Given the description of an element on the screen output the (x, y) to click on. 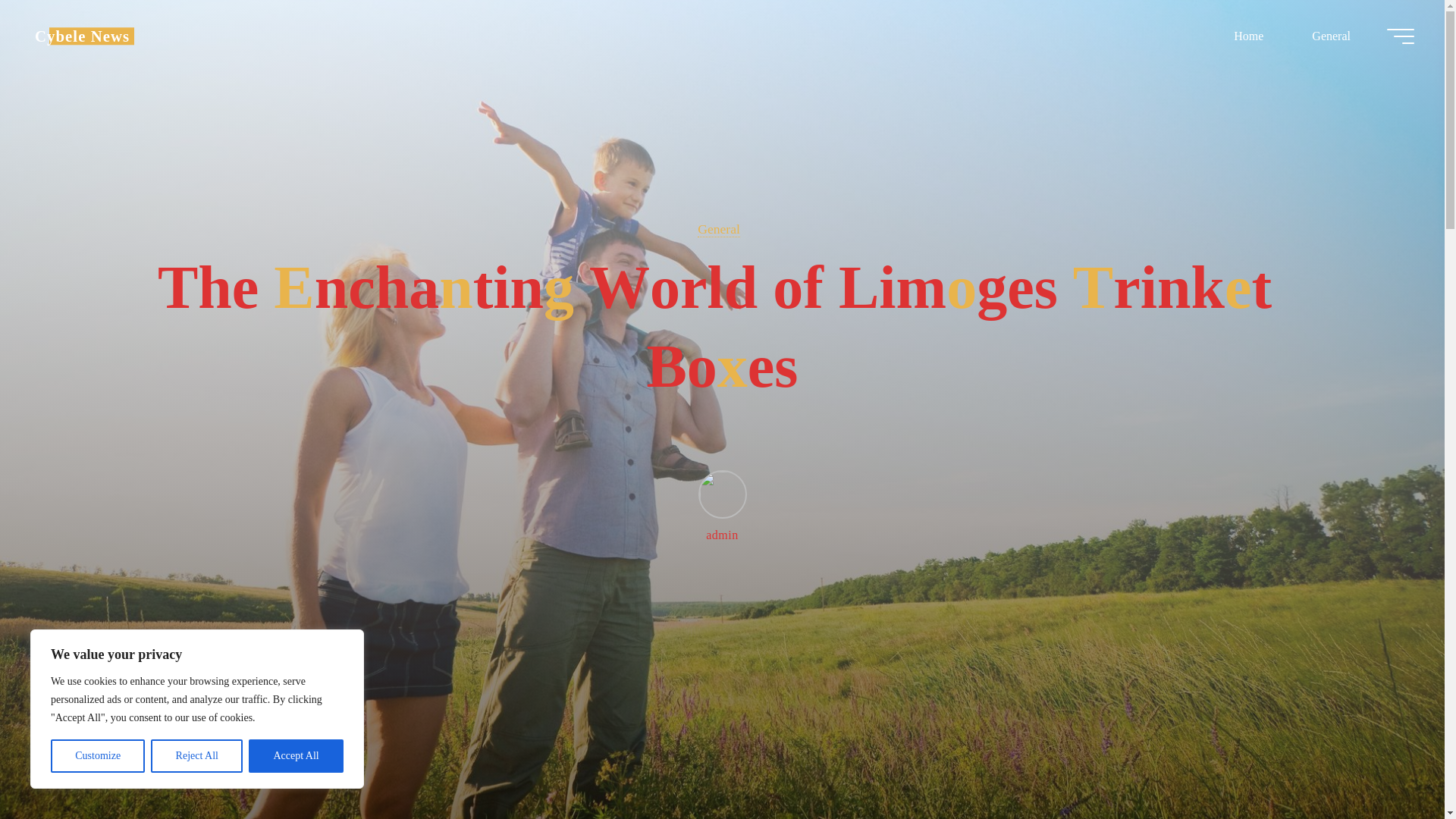
Blog (81, 36)
Cybele News (81, 36)
Home (1248, 35)
Customize (97, 756)
Read more (721, 724)
Accept All (295, 756)
General (718, 229)
General (1330, 35)
Reject All (197, 756)
